Given the description of an element on the screen output the (x, y) to click on. 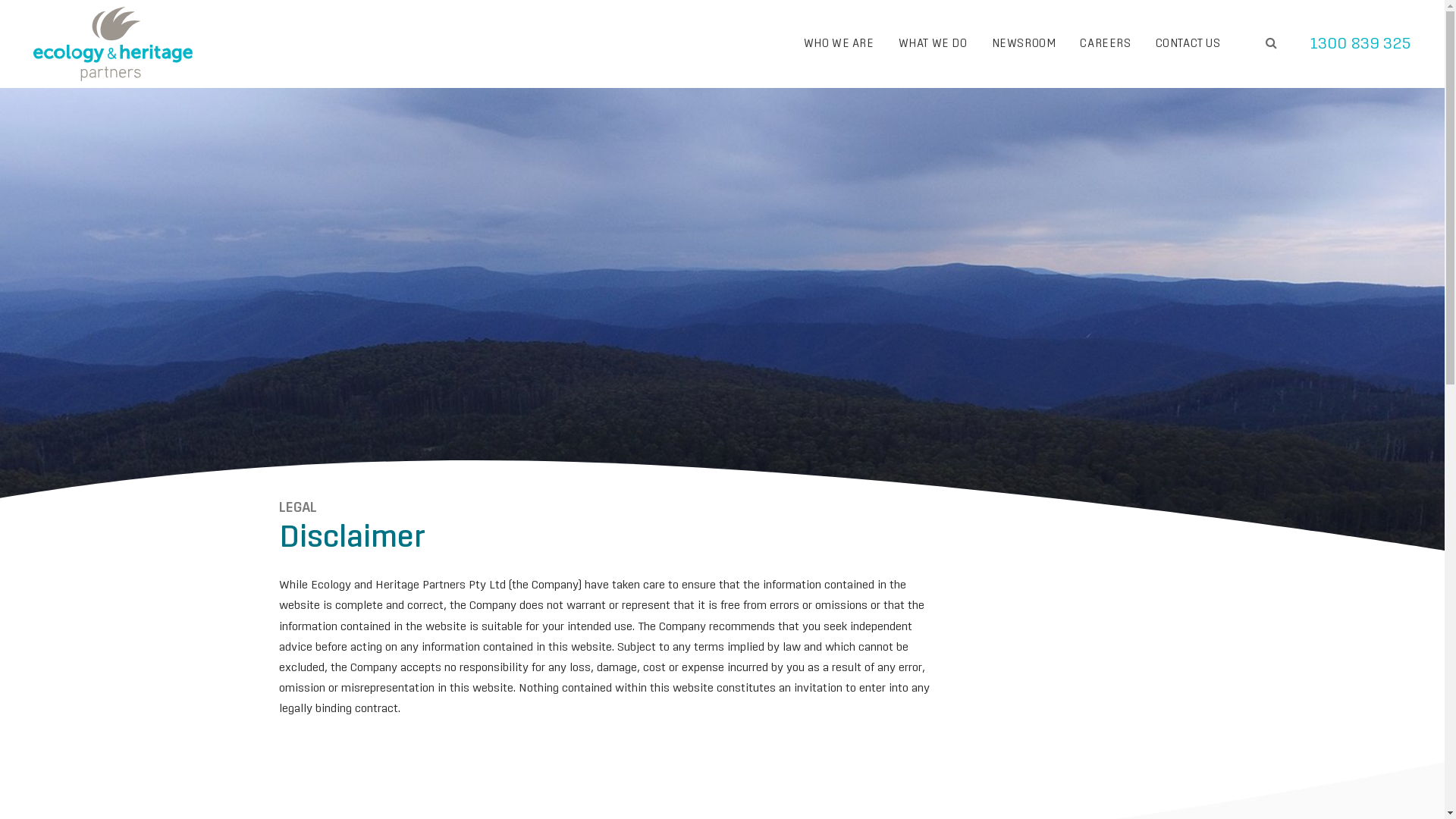
1300 839 325 Element type: text (1360, 43)
NEWSROOM Element type: text (1023, 43)
go to home page Element type: hover (112, 43)
WHAT WE DO Element type: text (932, 43)
CAREERS Element type: text (1104, 43)
LEGAL Element type: text (297, 515)
WHO WE ARE Element type: text (838, 43)
CONTACT US Element type: text (1188, 43)
